Given the description of an element on the screen output the (x, y) to click on. 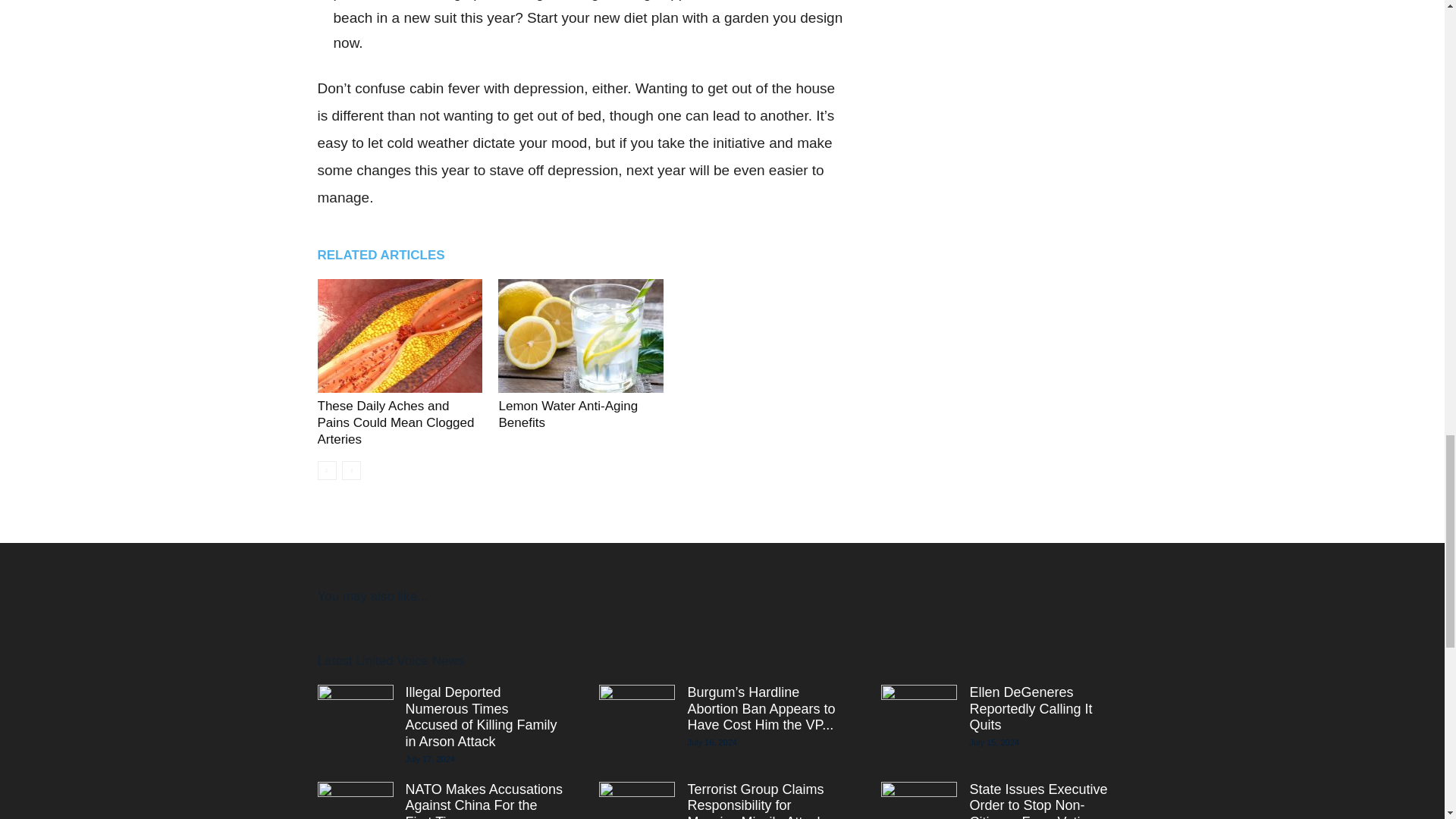
Lemon Water Anti-Aging Benefits (567, 413)
RELATED ARTICLES (388, 254)
Lemon Water Anti-Aging Benefits (580, 336)
Lemon Water Anti-Aging Benefits (567, 413)
These Daily Aches and Pains Could Mean Clogged Arteries (395, 422)
These Daily Aches and Pains Could Mean Clogged Arteries (399, 336)
These Daily Aches and Pains Could Mean Clogged Arteries (395, 422)
